Given the description of an element on the screen output the (x, y) to click on. 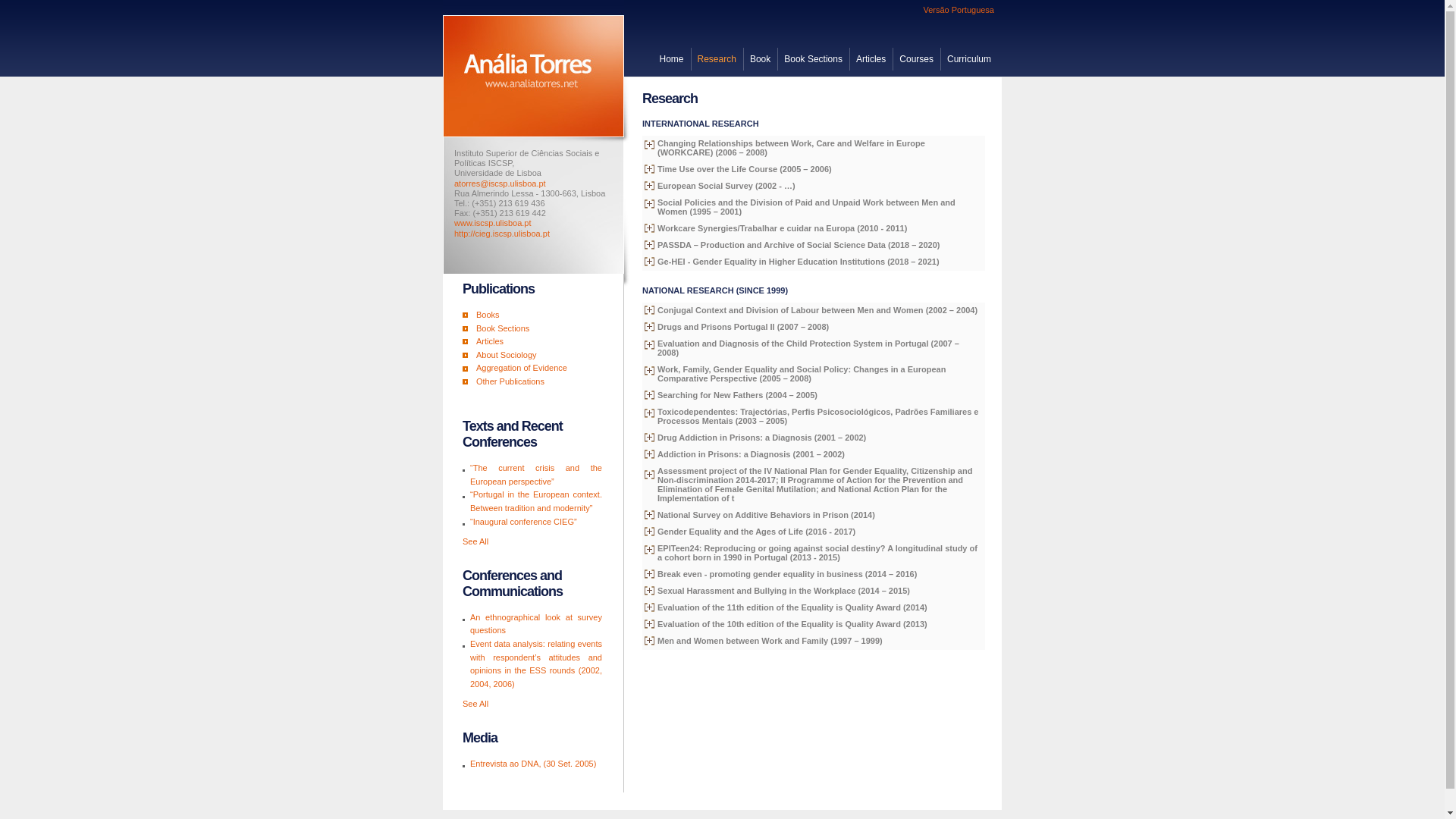
See All (475, 703)
Other Publications (510, 380)
An ethnographical look at survey questions (536, 623)
About Sociology (506, 354)
Aggregation of Evidence (521, 367)
Articles (870, 58)
Courses (916, 58)
See All (475, 703)
Home (671, 58)
Curriculum (968, 58)
Book (759, 58)
www.iscsp.ulisboa.pt (492, 222)
Research (716, 58)
Book Sections (812, 58)
See All (475, 541)
